Given the description of an element on the screen output the (x, y) to click on. 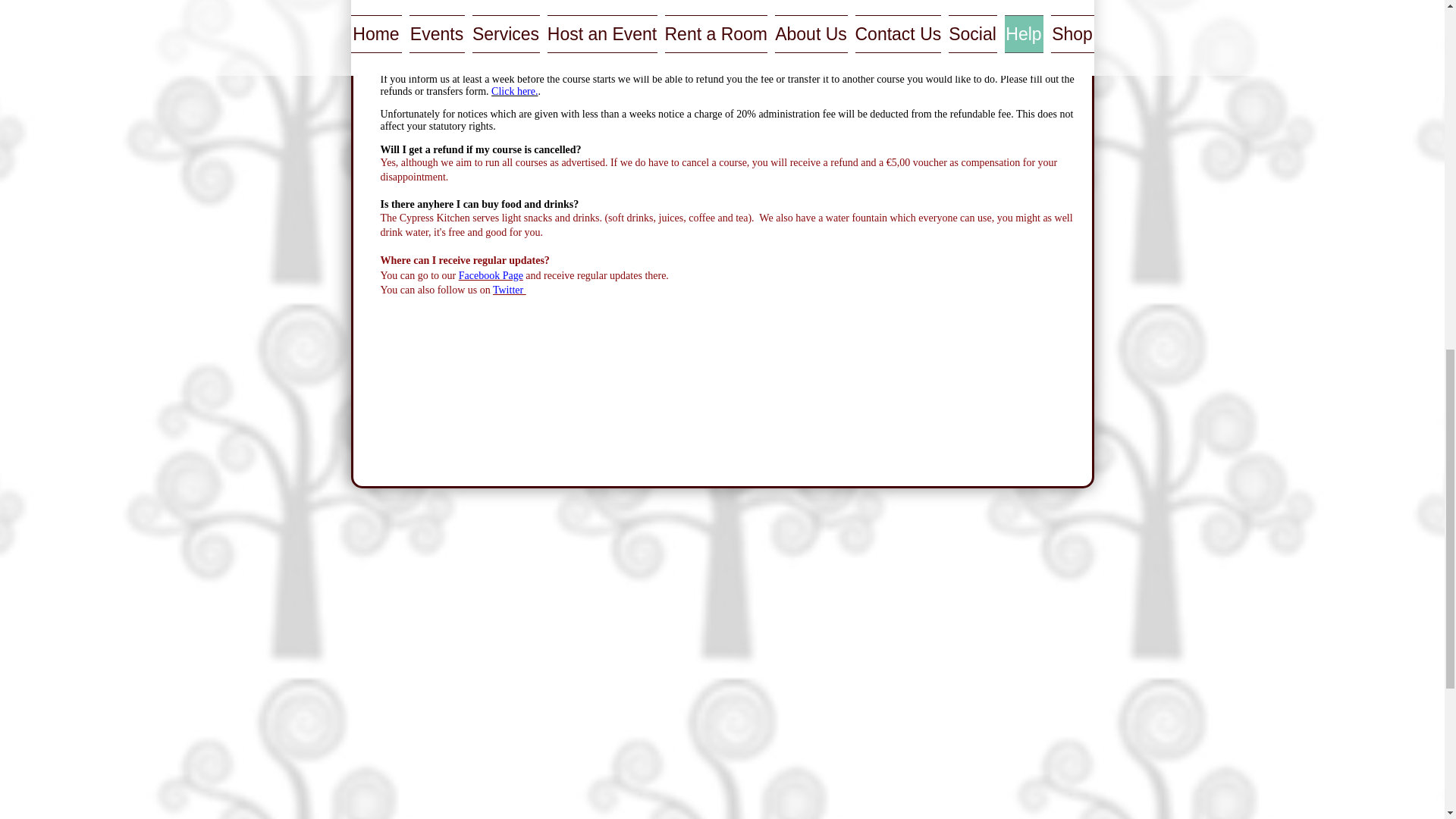
Twitter  (509, 289)
What can we do for you page. (894, 38)
Facebook Page (490, 275)
Click here. (514, 91)
